Given the description of an element on the screen output the (x, y) to click on. 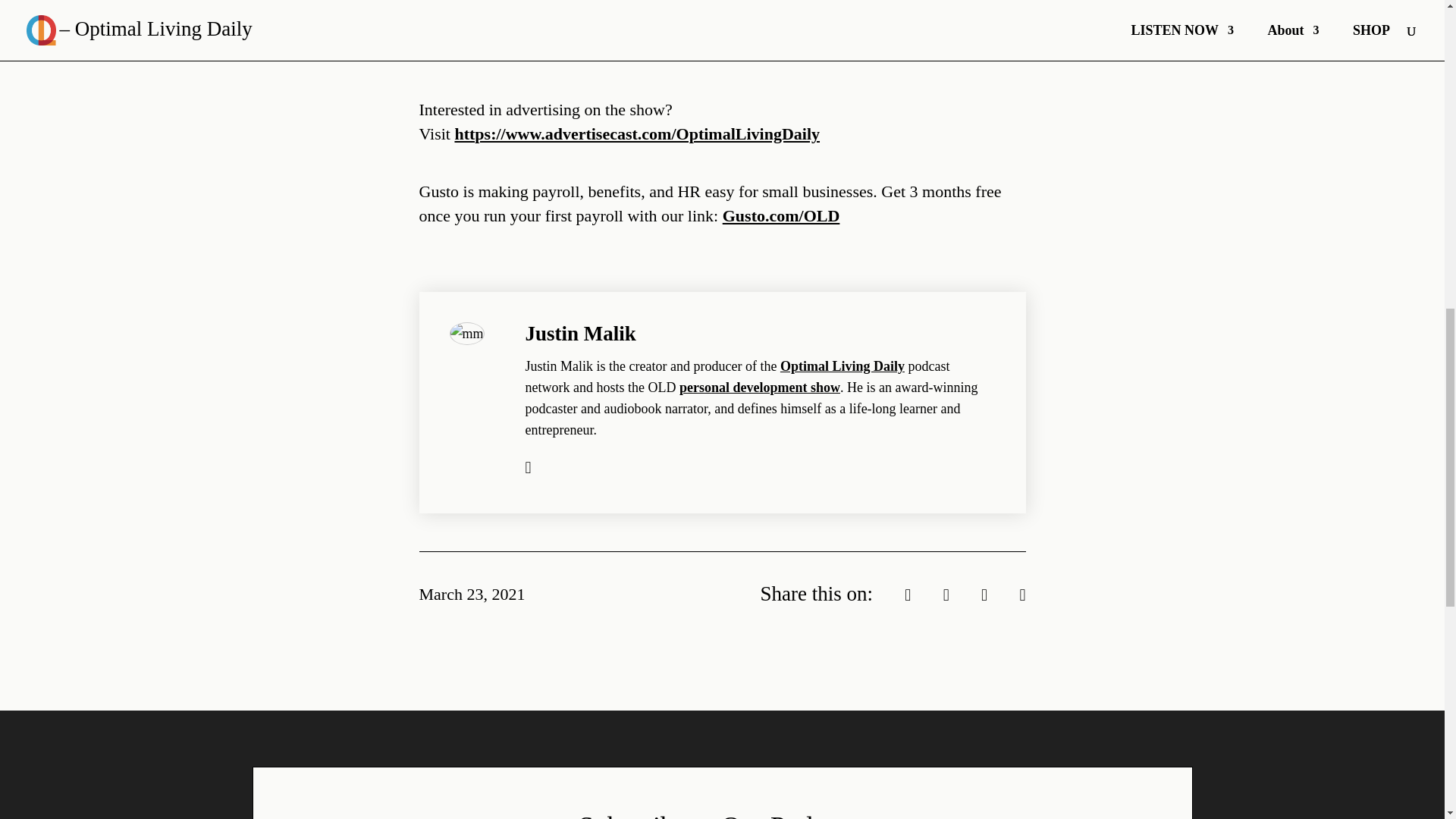
Justin Malik (579, 333)
personal development show (759, 387)
Join the Ol' Family to get your Free Gifts (615, 27)
Optimal Living Daily (842, 365)
